Given the description of an element on the screen output the (x, y) to click on. 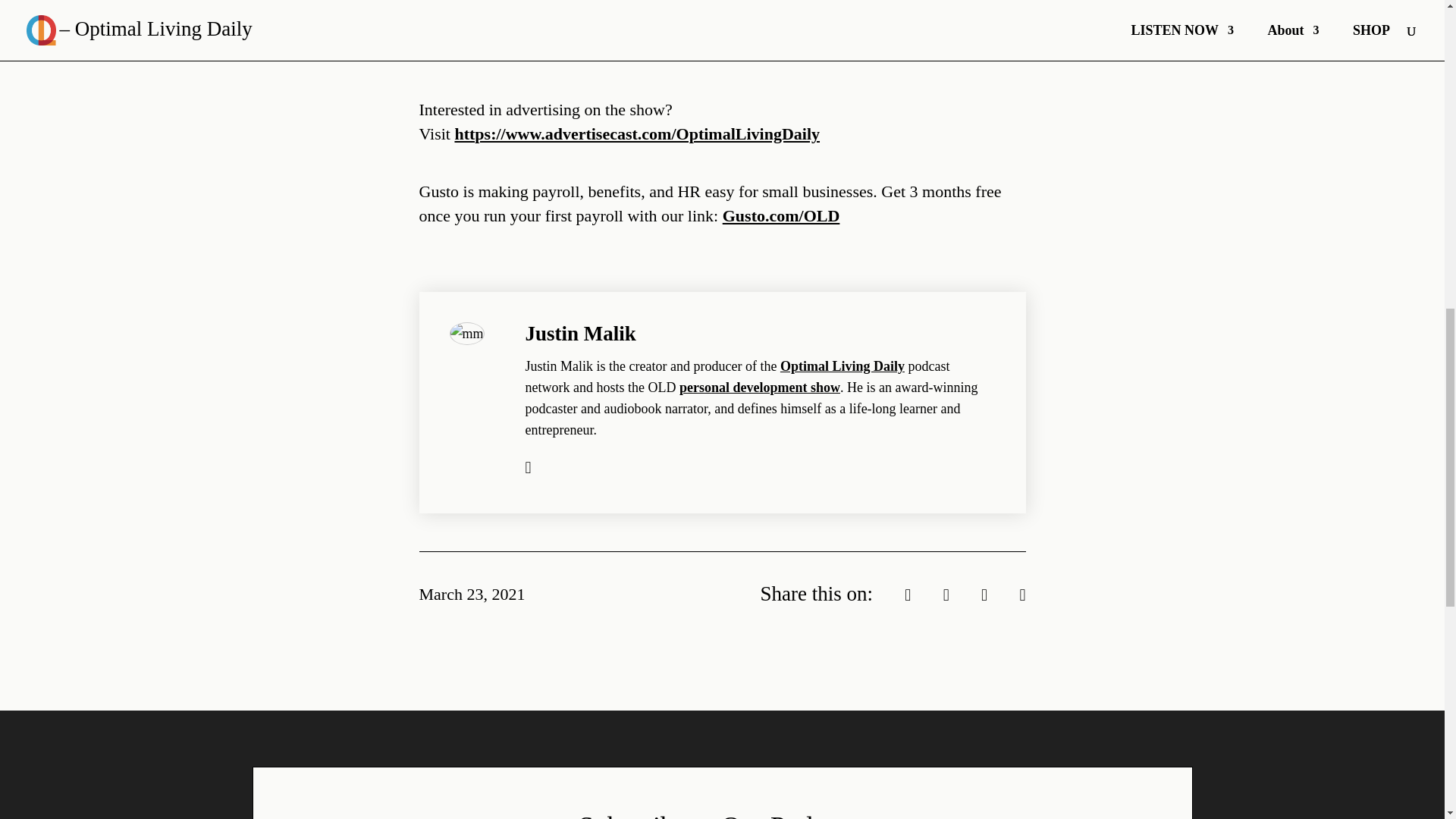
Justin Malik (579, 333)
personal development show (759, 387)
Join the Ol' Family to get your Free Gifts (615, 27)
Optimal Living Daily (842, 365)
